Given the description of an element on the screen output the (x, y) to click on. 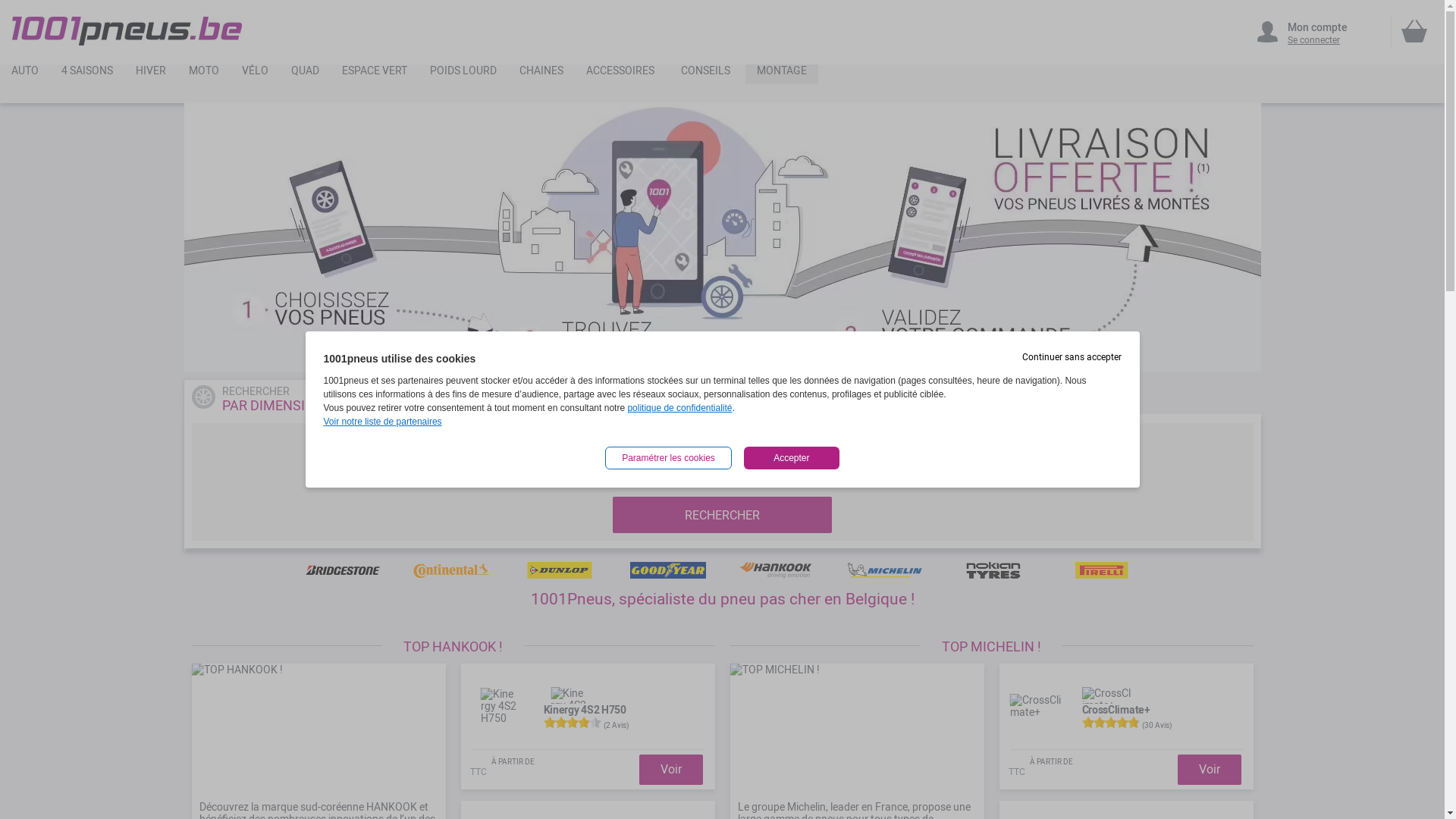
ACCESSOIRES Element type: text (619, 74)
HIVER Element type: text (150, 74)
MONTAGE Element type: text (781, 74)
4 SAISONS Element type: text (87, 74)
POIDS LOURD Element type: text (463, 74)
Voir Element type: text (1208, 768)
Accepter Element type: text (791, 457)
(30 Avis) Element type: text (1156, 724)
MOTO Element type: text (203, 74)
RECHERCHER Element type: text (721, 514)
Continuer sans accepter Element type: text (1071, 357)
ESPACE VERT Element type: text (374, 74)
Voir Element type: text (670, 768)
QUAD Element type: text (304, 74)
1001pneus.be - Spcialiste du pneu pas cher Element type: hover (126, 30)
Mon panier Element type: text (1414, 30)
Mon compte
Se connecter Element type: text (1316, 31)
CHAINES Element type: text (541, 74)
AUTO Element type: text (25, 74)
CONSEILS Element type: text (705, 74)
Voir notre liste de partenaires Element type: text (382, 421)
(2 Avis) Element type: text (615, 724)
